Given the description of an element on the screen output the (x, y) to click on. 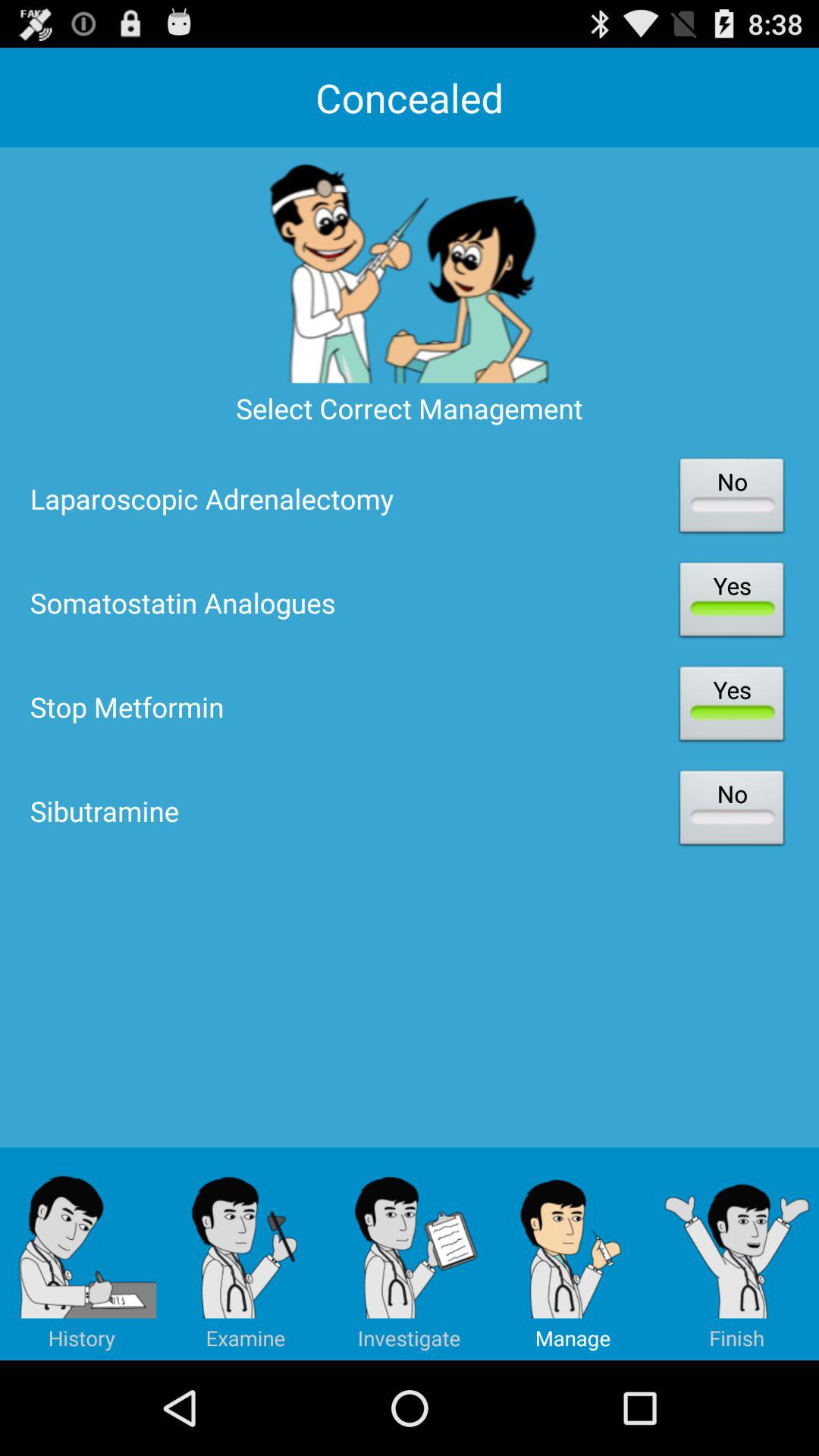
select item below sibutramine (81, 1253)
